Given the description of an element on the screen output the (x, y) to click on. 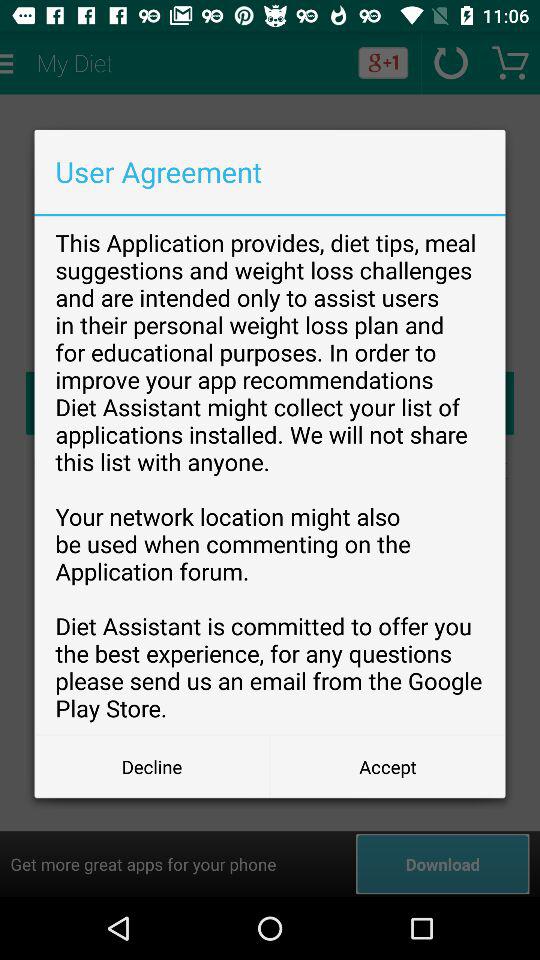
open icon below the this application provides item (151, 766)
